Given the description of an element on the screen output the (x, y) to click on. 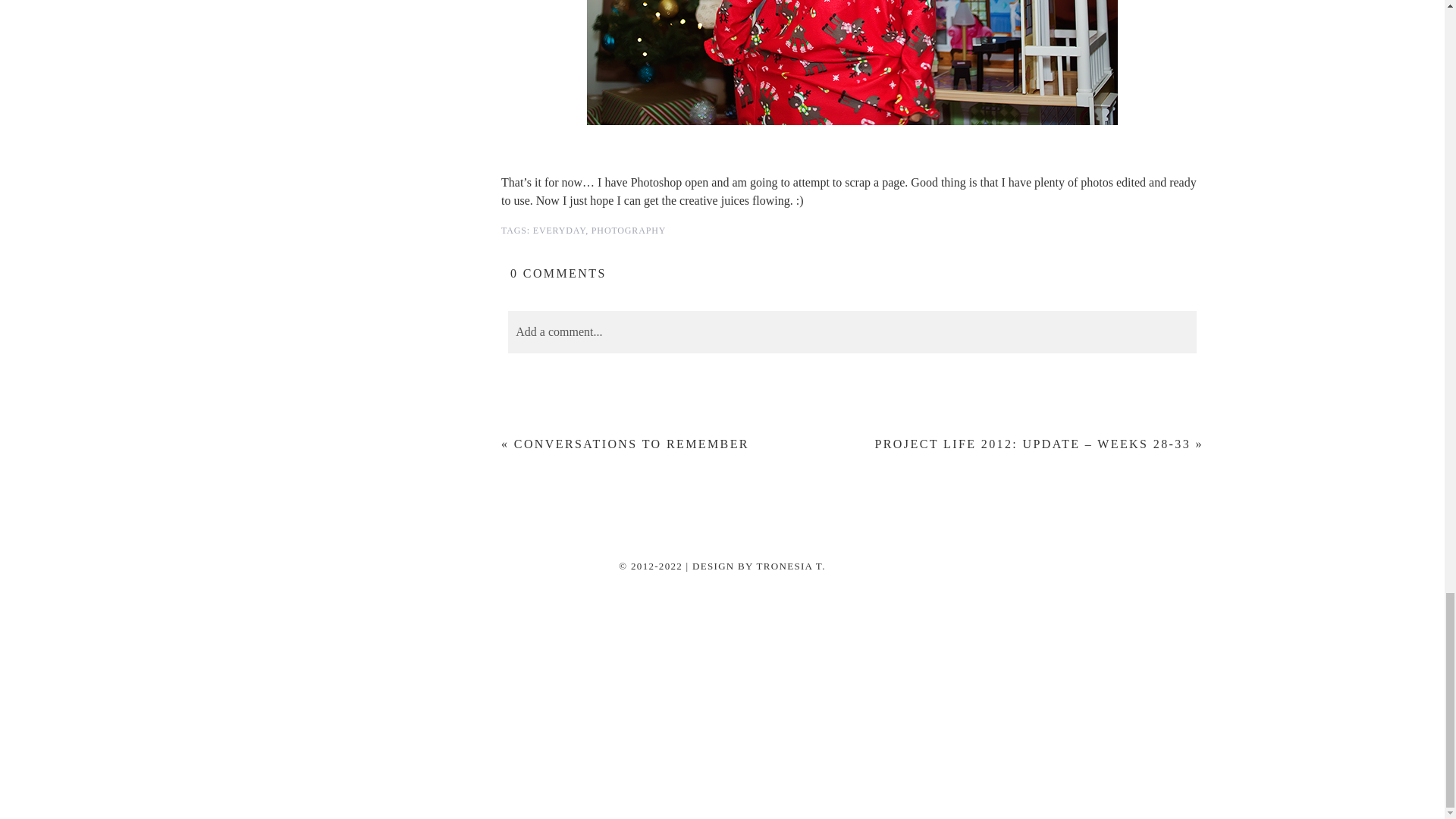
PHOTOGRAPHY (628, 230)
TRONESIA T. (791, 565)
EVERYDAY (558, 230)
CONVERSATIONS TO REMEMBER (631, 443)
25dec2013-2 by tronesia, on Flickr (852, 62)
